Given the description of an element on the screen output the (x, y) to click on. 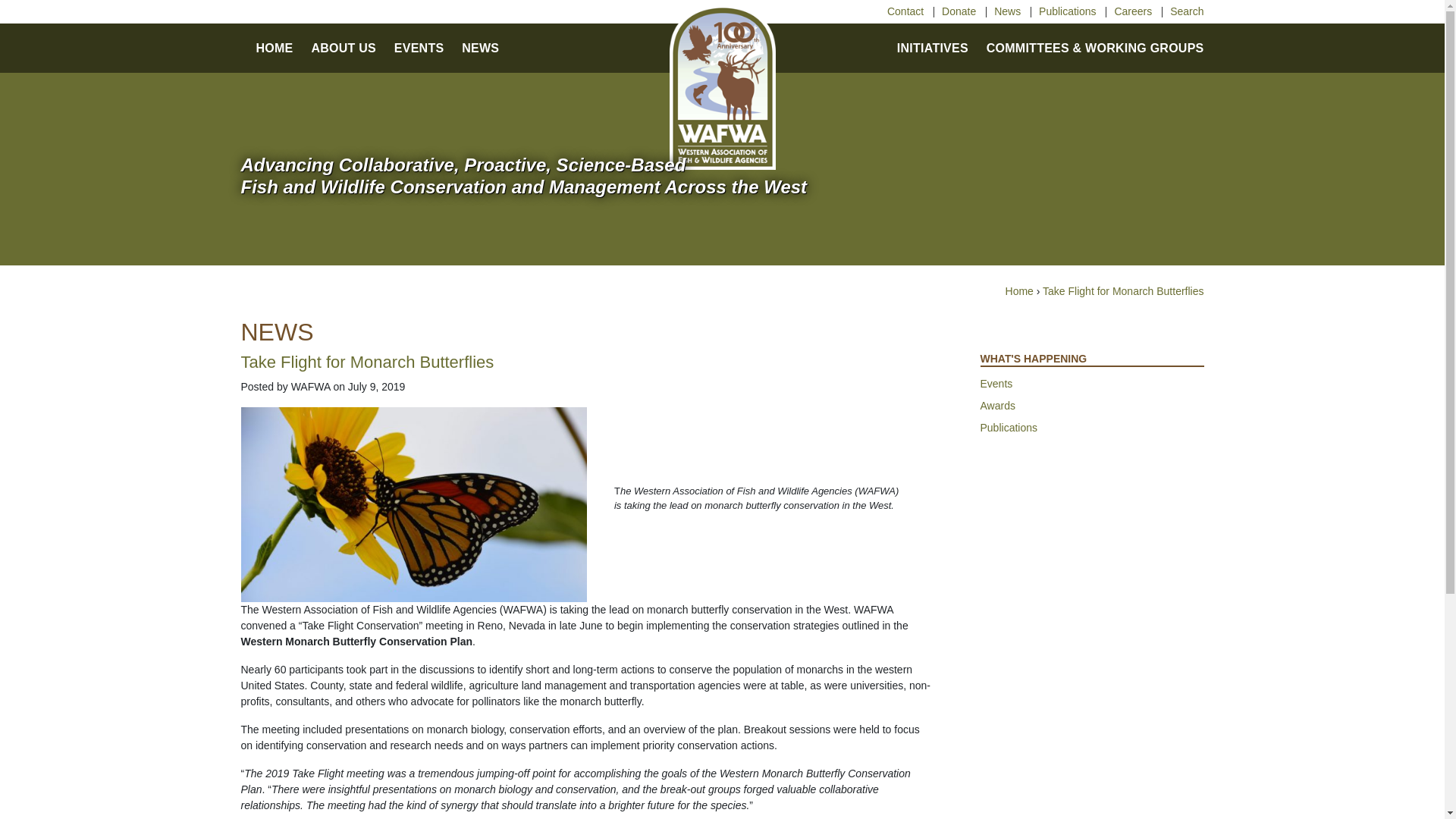
ABOUT US (343, 47)
EVENTS (419, 47)
NEWS (480, 47)
Home (1019, 291)
Take Flight for Monarch Butterflies (1123, 291)
Publications (1091, 427)
Publications (1067, 10)
Events (1091, 383)
Careers (1132, 10)
Awards (1091, 406)
HOME (275, 47)
News (1007, 10)
Donate (958, 10)
INITIATIVES (932, 47)
Contact (904, 10)
